Given the description of an element on the screen output the (x, y) to click on. 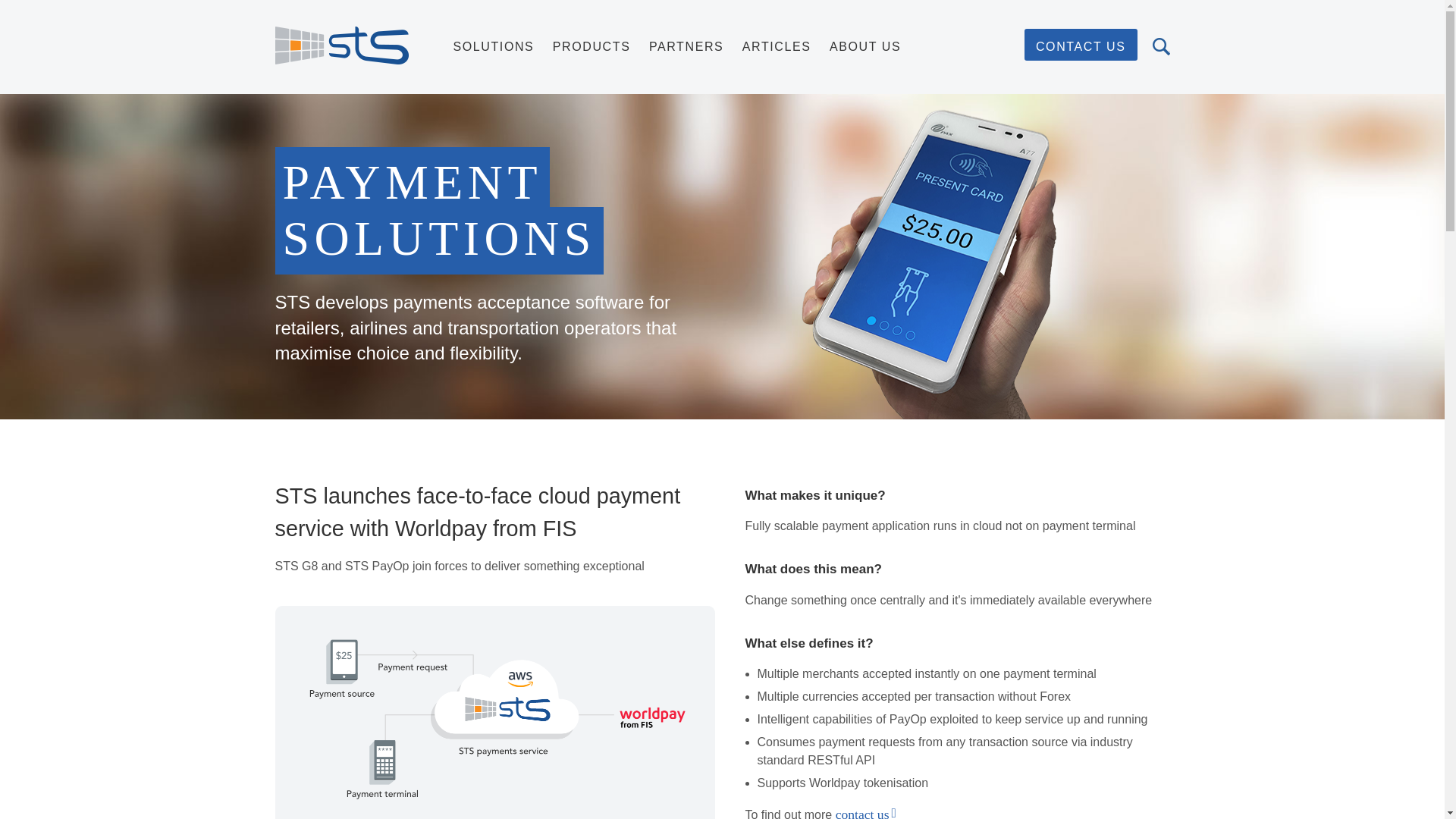
PRODUCTS (591, 46)
contact us (862, 812)
Smart Technology Solutions (341, 45)
PARTNERS (686, 46)
CONTACT US (1081, 44)
SOLUTIONS (493, 46)
Search (1161, 46)
diagram (494, 712)
ABOUT US (865, 46)
ARTICLES (776, 46)
